Given the description of an element on the screen output the (x, y) to click on. 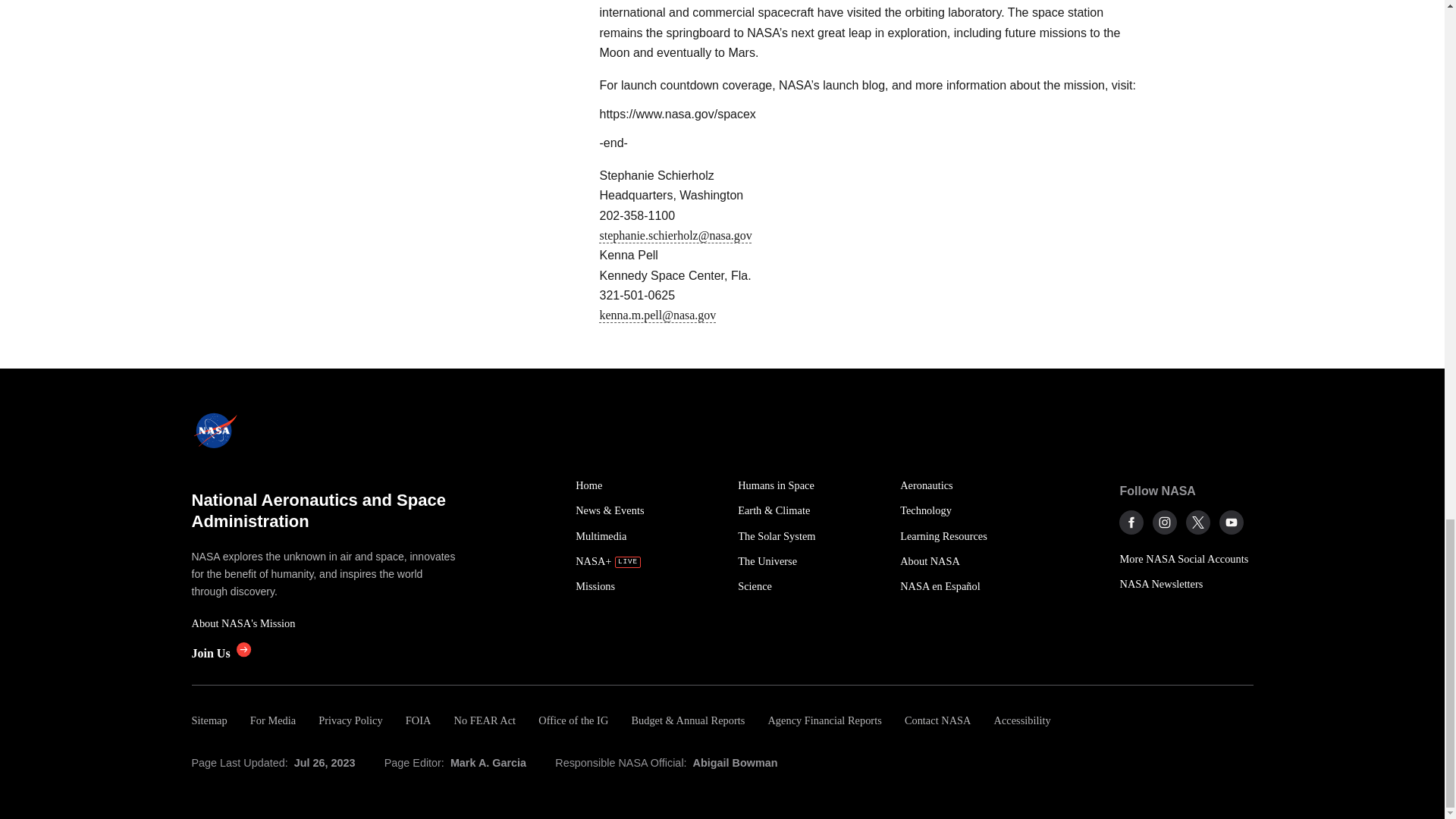
NASA on Facebook (1130, 522)
Home (647, 485)
Join Us (220, 653)
NASA on X (1197, 522)
NASA on YouTube (1231, 522)
About NASA's Mission (324, 623)
NASA on Instagram (1164, 522)
Multimedia (647, 536)
